Given the description of an element on the screen output the (x, y) to click on. 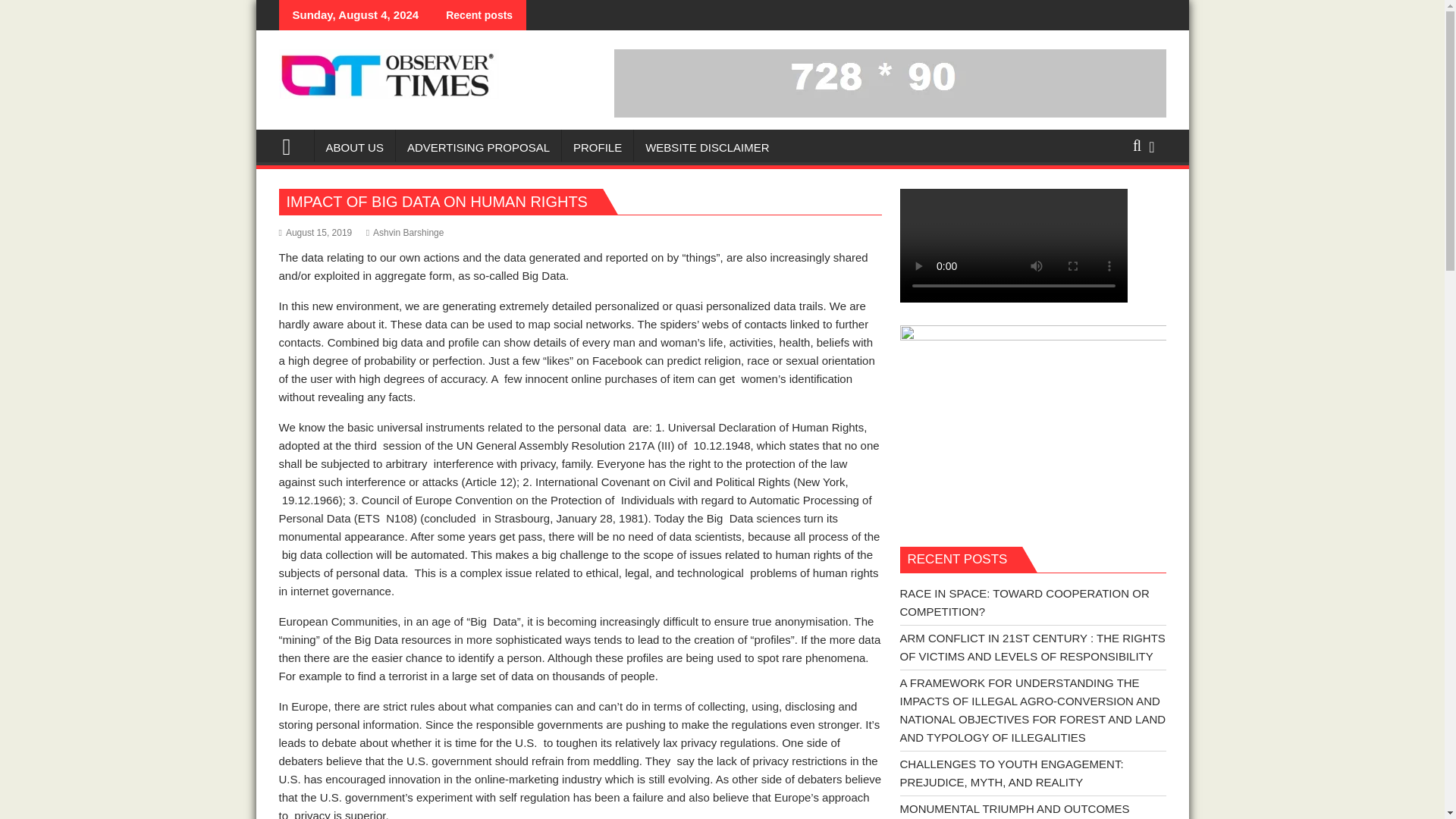
August 15, 2019 (315, 232)
WEBSITE DISCLAIMER (706, 147)
ADVERTISING PROPOSAL (478, 147)
PROFILE (597, 147)
OBSERVER TIMES (293, 145)
ABOUT US (354, 147)
Ashvin Barshinge (405, 232)
